Given the description of an element on the screen output the (x, y) to click on. 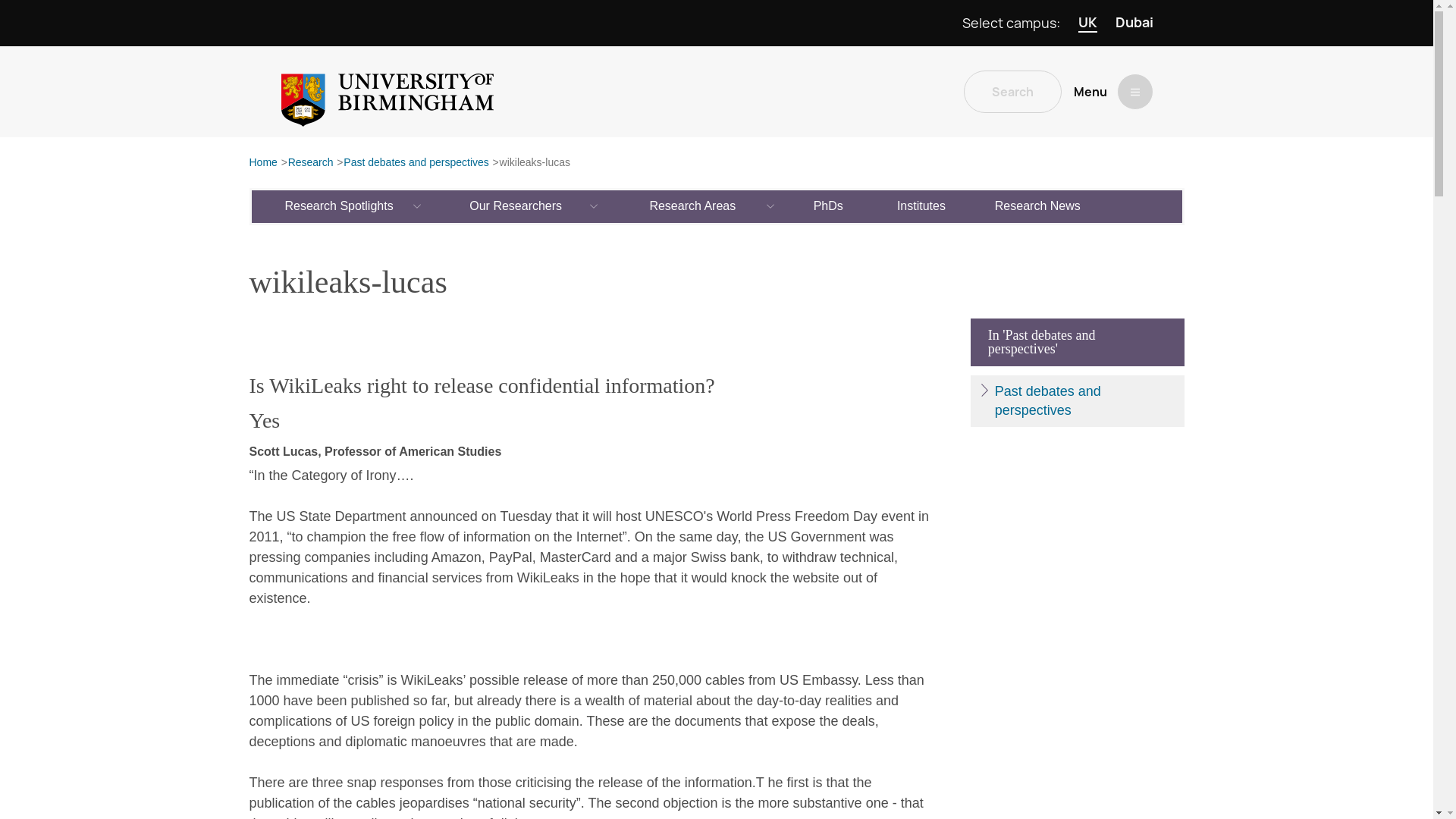
Home (262, 163)
UK (1087, 23)
Past debates and perspectives (415, 163)
wikileaks-lucas (534, 163)
Our Researchers (516, 205)
Research Spotlights (339, 205)
Research Areas (693, 205)
Search (1012, 91)
Research (310, 163)
Dubai (1134, 23)
